Given the description of an element on the screen output the (x, y) to click on. 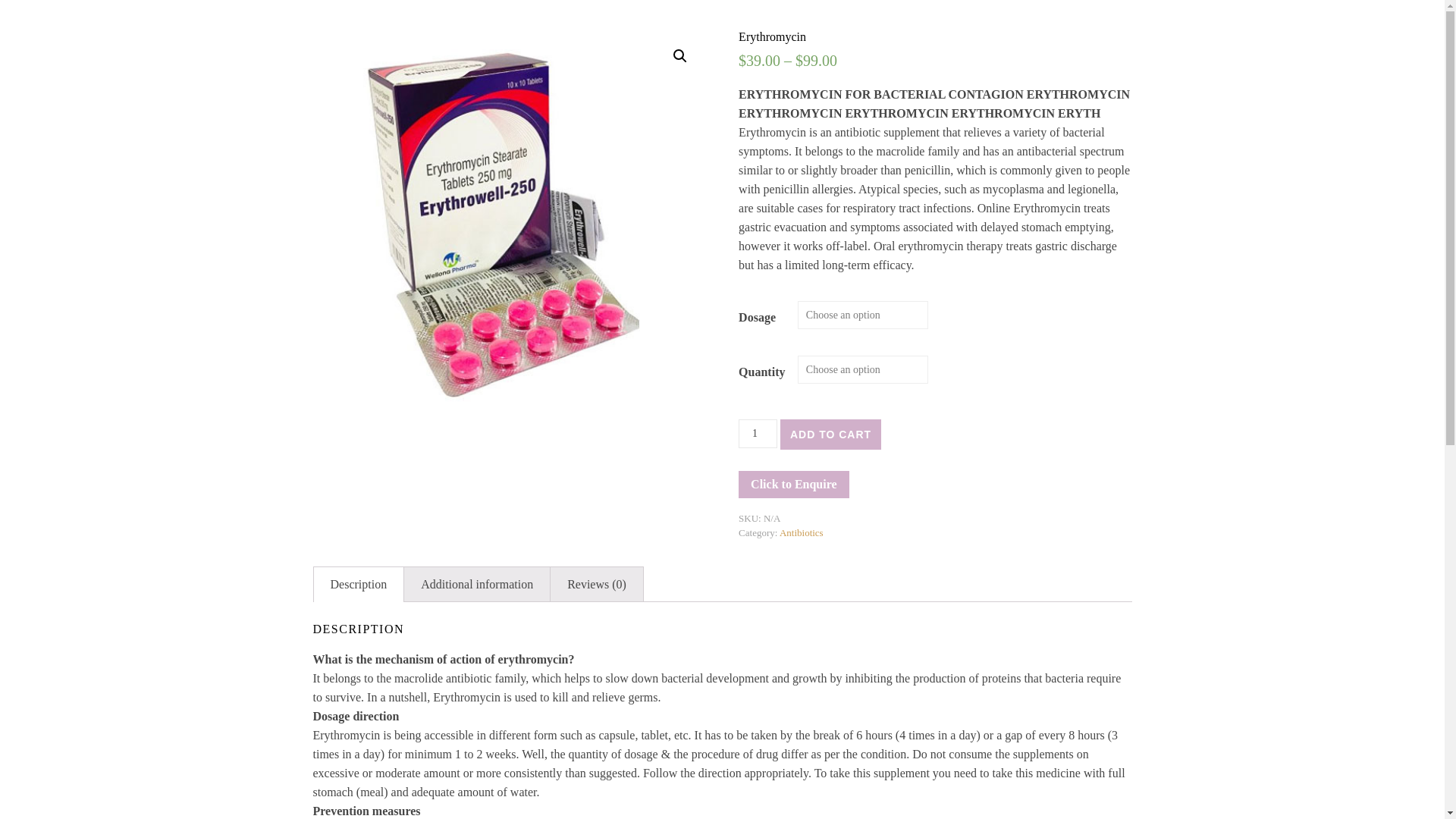
Additional information (477, 584)
Qty (757, 433)
Click to Enquire (793, 483)
Description (359, 584)
1 (757, 433)
ADD TO CART (830, 434)
Antibiotics (801, 532)
